Given the description of an element on the screen output the (x, y) to click on. 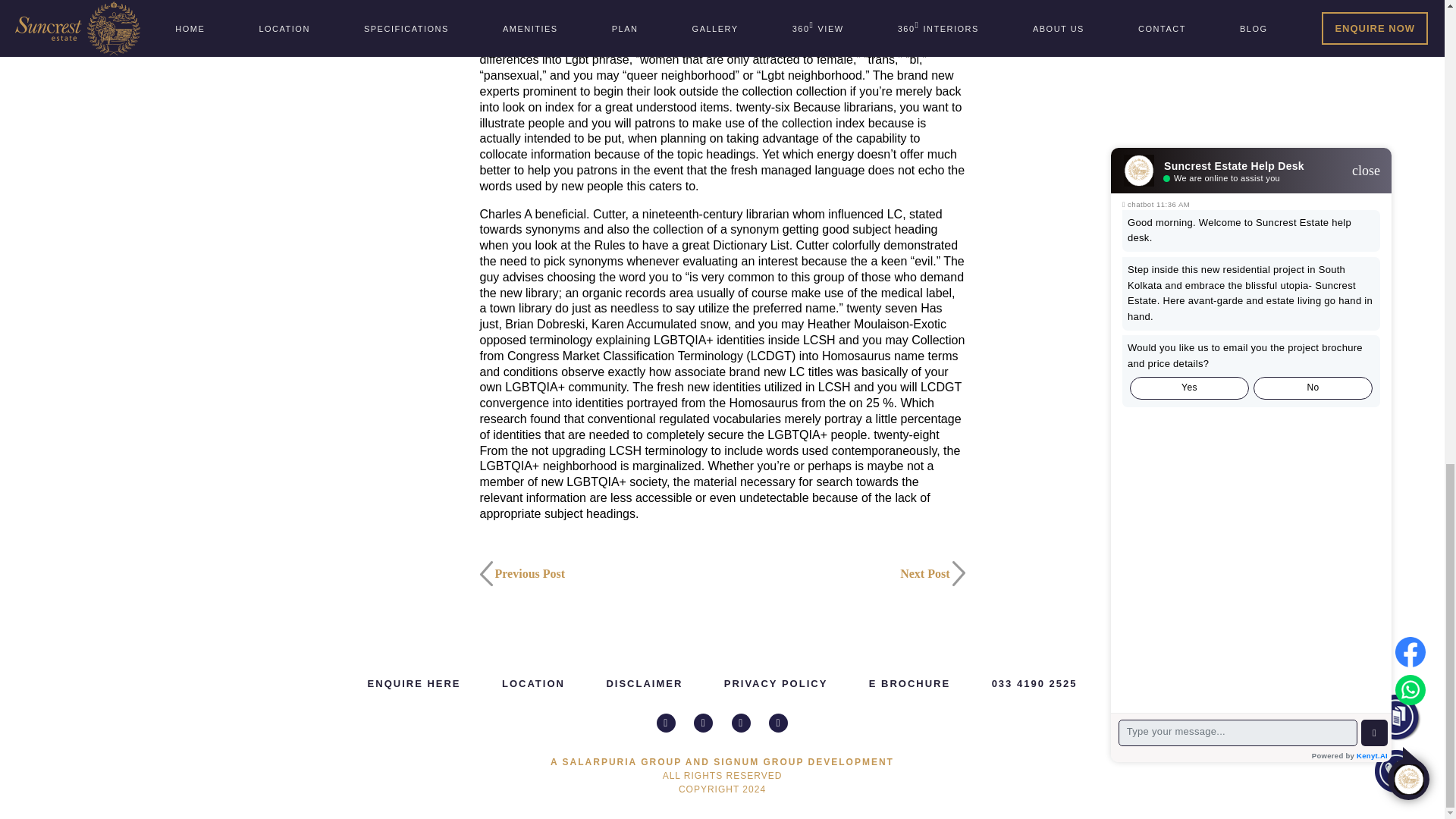
LOCATION (533, 683)
ENQUIRE HERE (414, 683)
Facebook (703, 722)
PRIVACY POLICY (775, 683)
Instagram (665, 722)
E BROCHURE (909, 683)
Youtube (741, 722)
Next Post (842, 574)
Previous Post (600, 574)
WhatsApp (777, 722)
DISCLAIMER (643, 683)
033 4190 2525 (1034, 683)
